Given the description of an element on the screen output the (x, y) to click on. 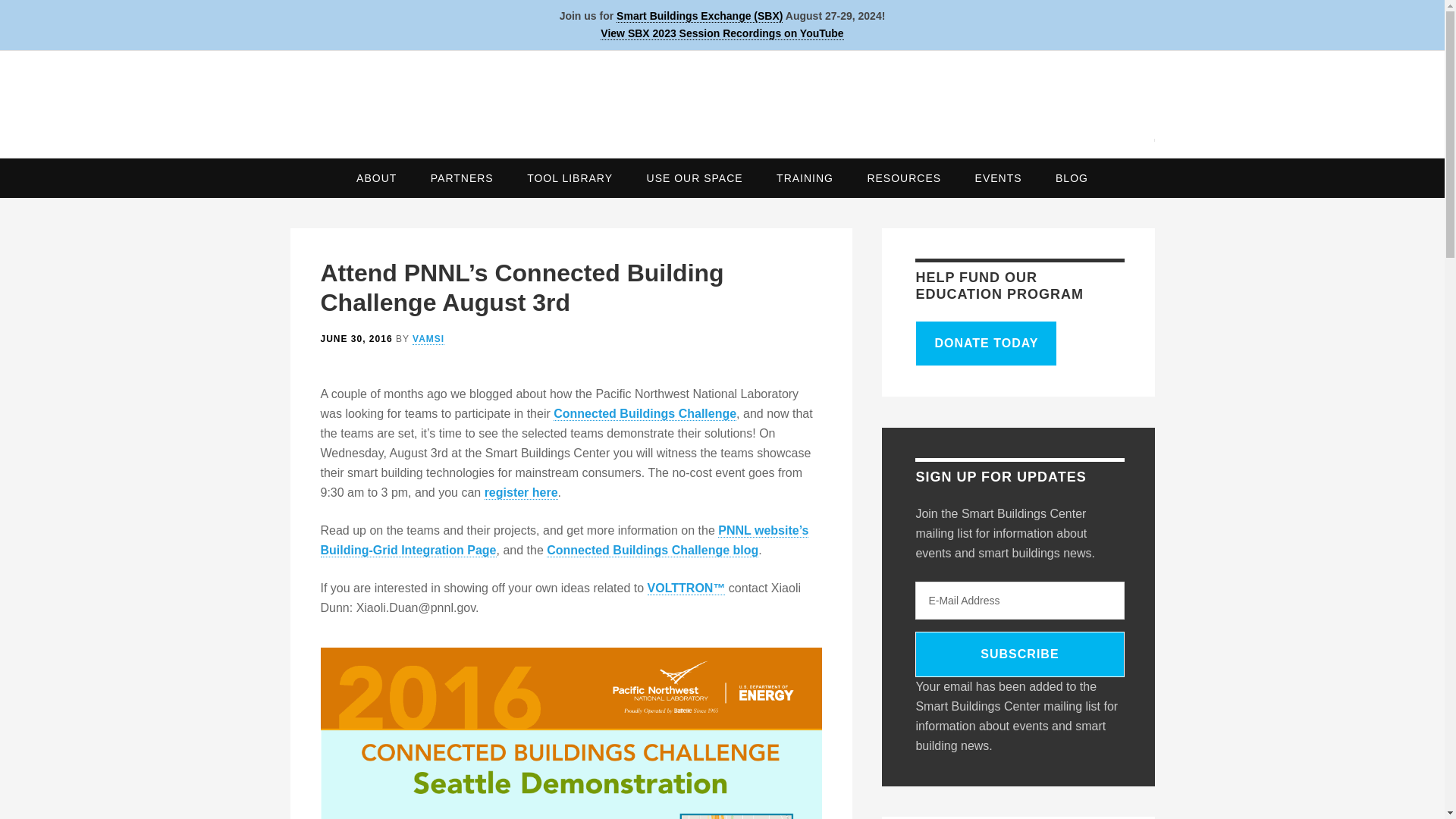
Subscribe (1019, 654)
USE OUR SPACE (694, 178)
EVENTS (997, 178)
BLOG (1072, 178)
View SBX 2023 Session Recordings on YouTube (721, 33)
PARTNERS (461, 178)
SMART BUILDINGS CENTER (721, 98)
TOOL LIBRARY (569, 178)
ABOUT (376, 178)
RESOURCES (903, 178)
TRAINING (804, 178)
